Given the description of an element on the screen output the (x, y) to click on. 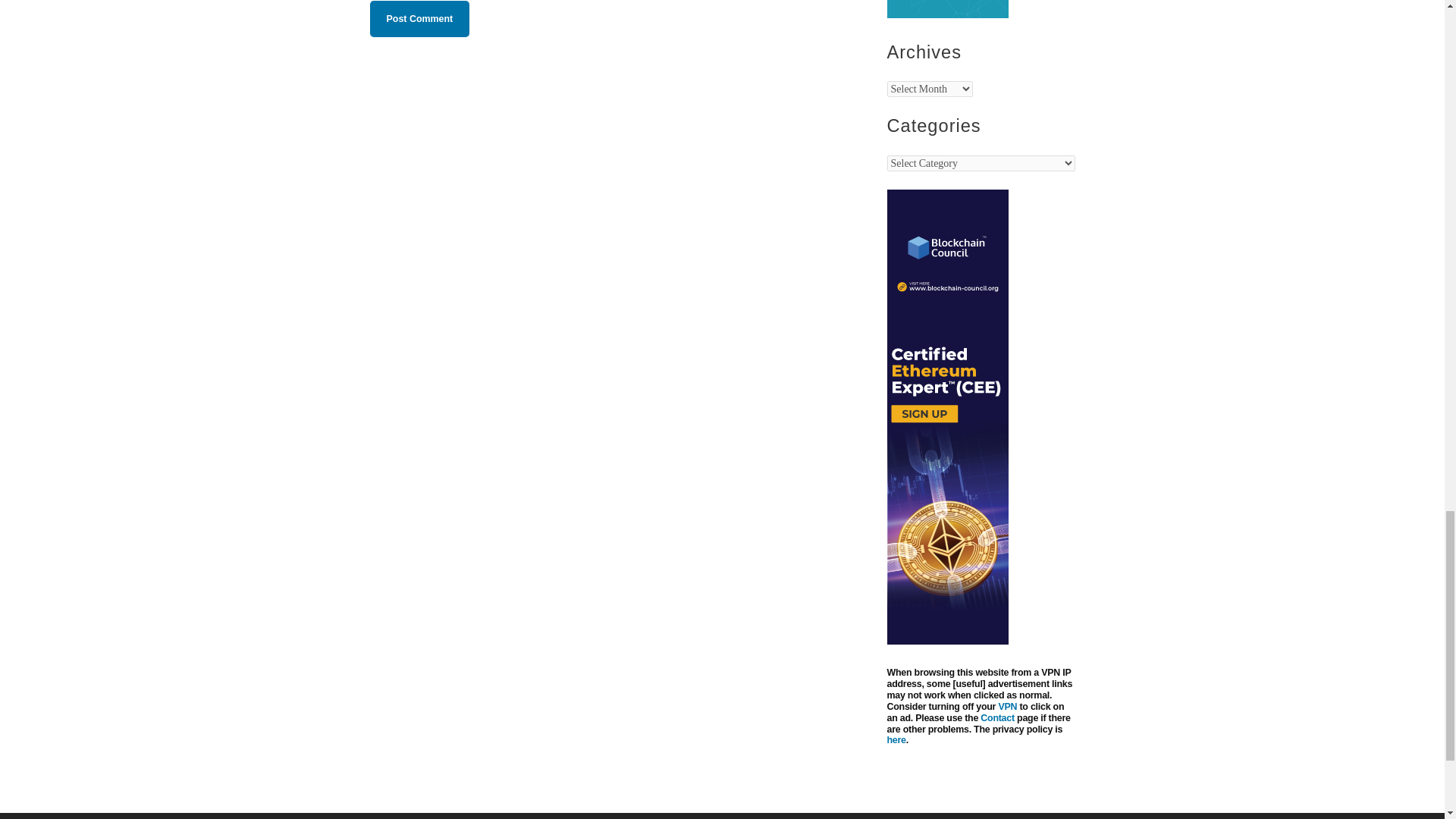
VPN (1006, 706)
Contact (996, 717)
Post Comment (419, 18)
here (895, 739)
Certified Ethereum Expert (947, 640)
Post Comment (419, 18)
Certified Smart Contract Developer (947, 14)
